Given the description of an element on the screen output the (x, y) to click on. 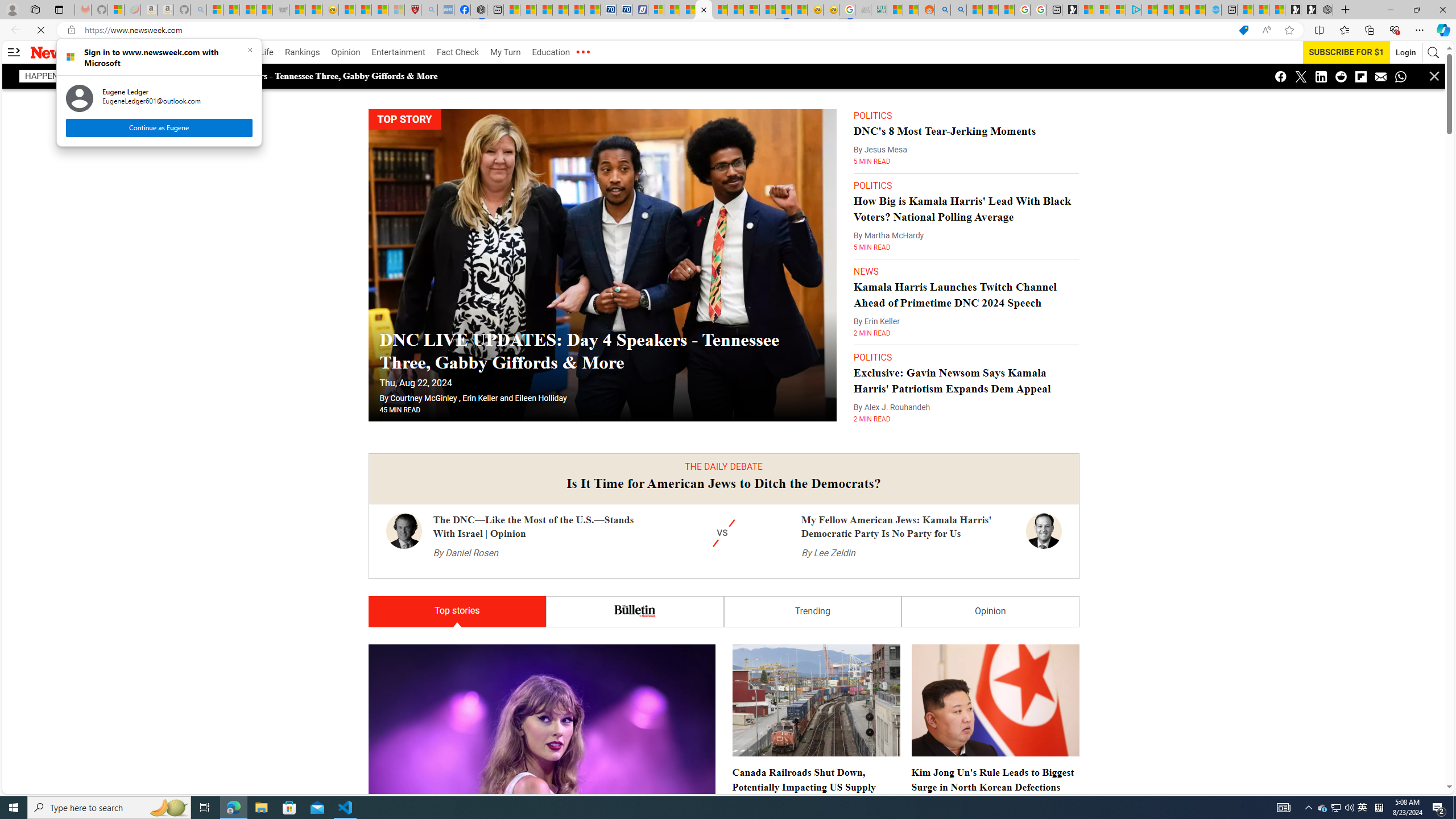
By Erin Keller (876, 298)
Class: icon-facebook (1281, 75)
Nordace - Nordace Siena Is Not An Ordinary Backpack (1324, 9)
MSN (783, 9)
Eileen Holliday (540, 375)
Cheap Car Rentals - Save70.com (608, 9)
Top stories (1322, 807)
My Turn (457, 588)
By Matthew Impelli (505, 52)
Fact Check (765, 688)
By Alex J. Rouhandeh (457, 52)
Microsoft-Report a Concern to Bing (891, 384)
